Given the description of an element on the screen output the (x, y) to click on. 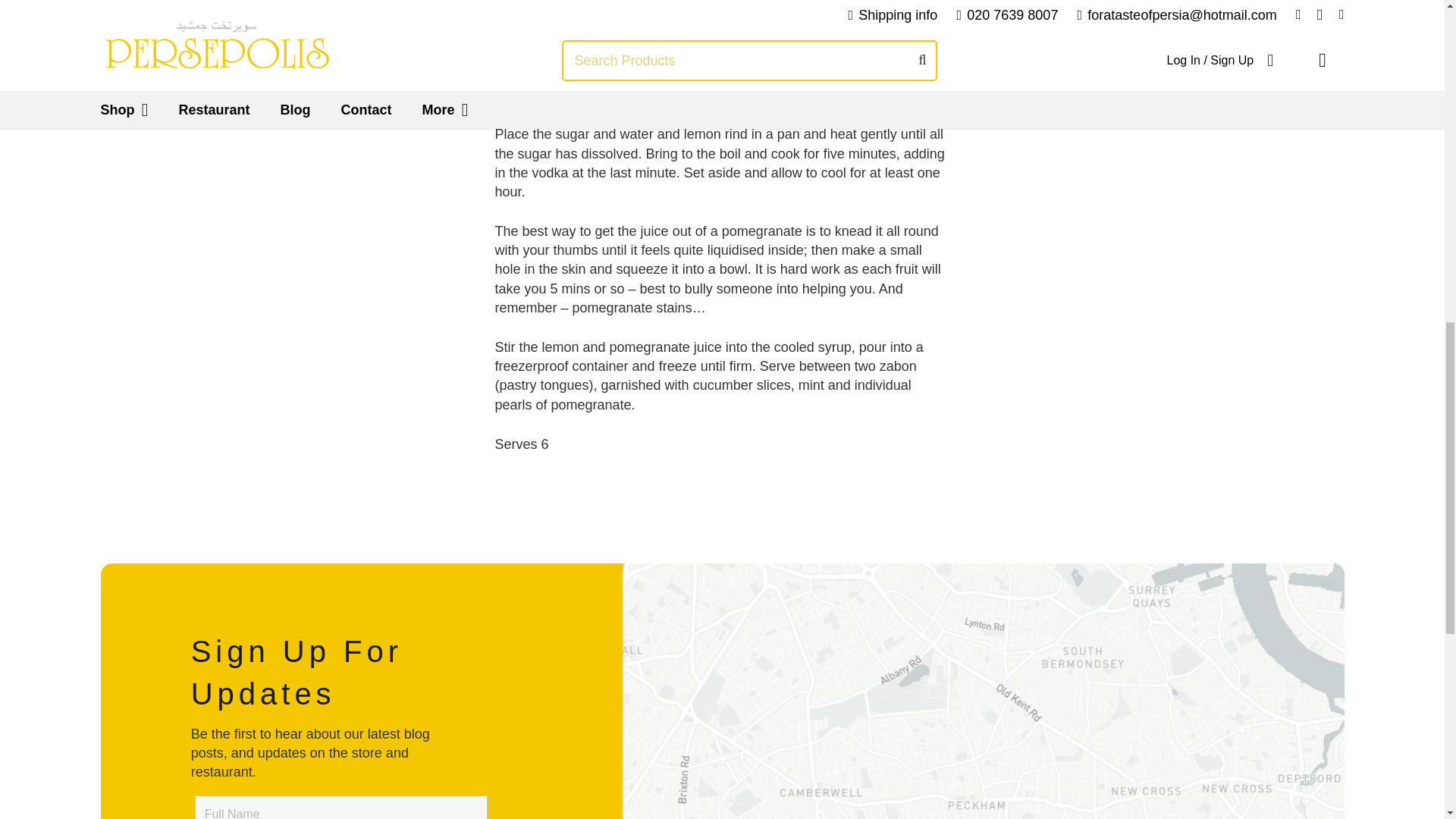
Back to top (1413, 37)
